Given the description of an element on the screen output the (x, y) to click on. 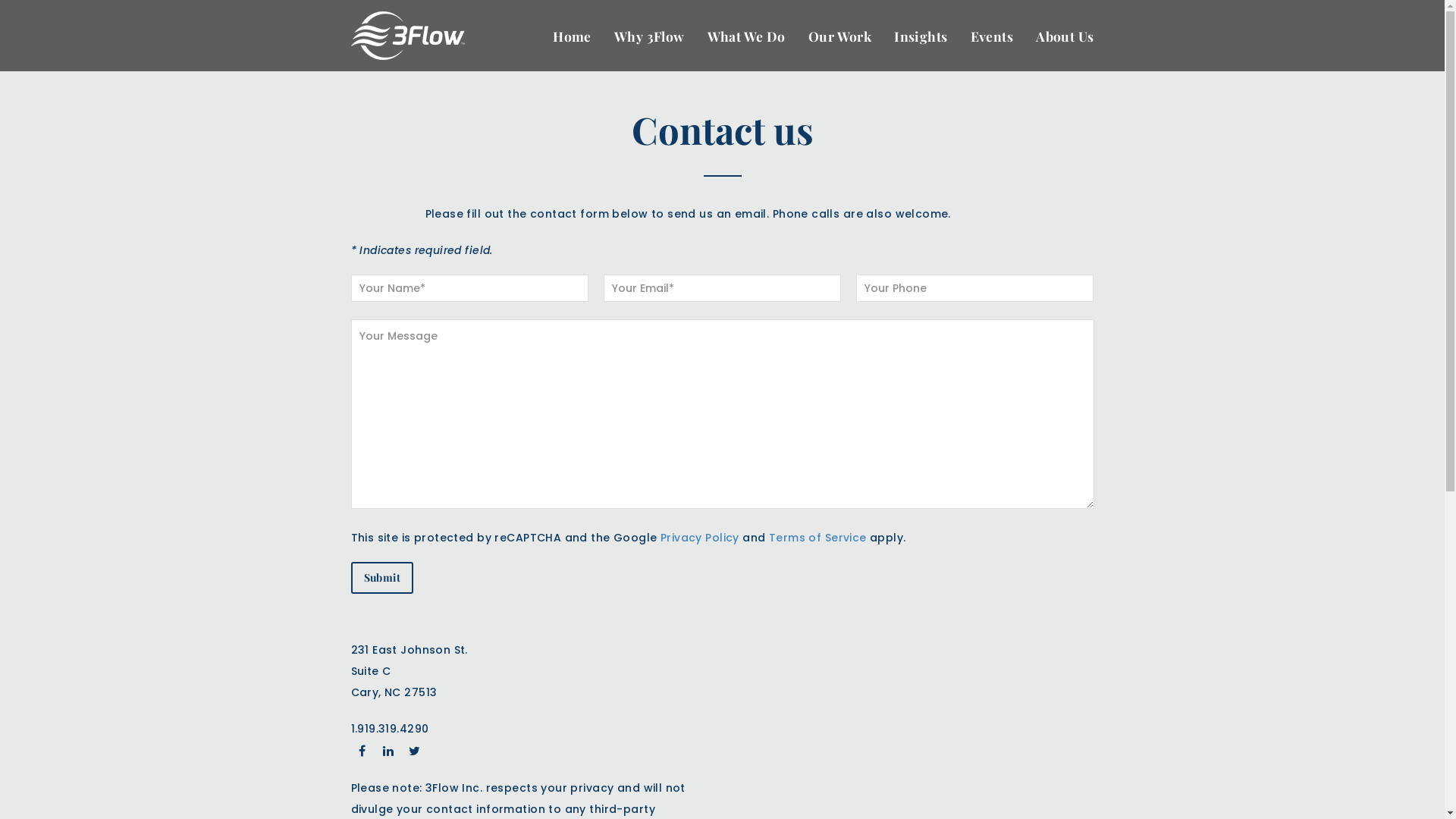
Privacy Policy Element type: text (699, 537)
Facebook Element type: text (361, 750)
Twitter Element type: text (414, 750)
Home Element type: text (571, 35)
Why 3Flow Element type: text (649, 35)
About Us Element type: text (1064, 35)
Our Work Element type: text (839, 35)
Terms of Service Element type: text (817, 537)
Submit Element type: text (381, 577)
LinkedIn Element type: text (387, 750)
What We Do Element type: text (746, 35)
Insights Element type: text (920, 35)
Events Element type: text (992, 35)
